Given the description of an element on the screen output the (x, y) to click on. 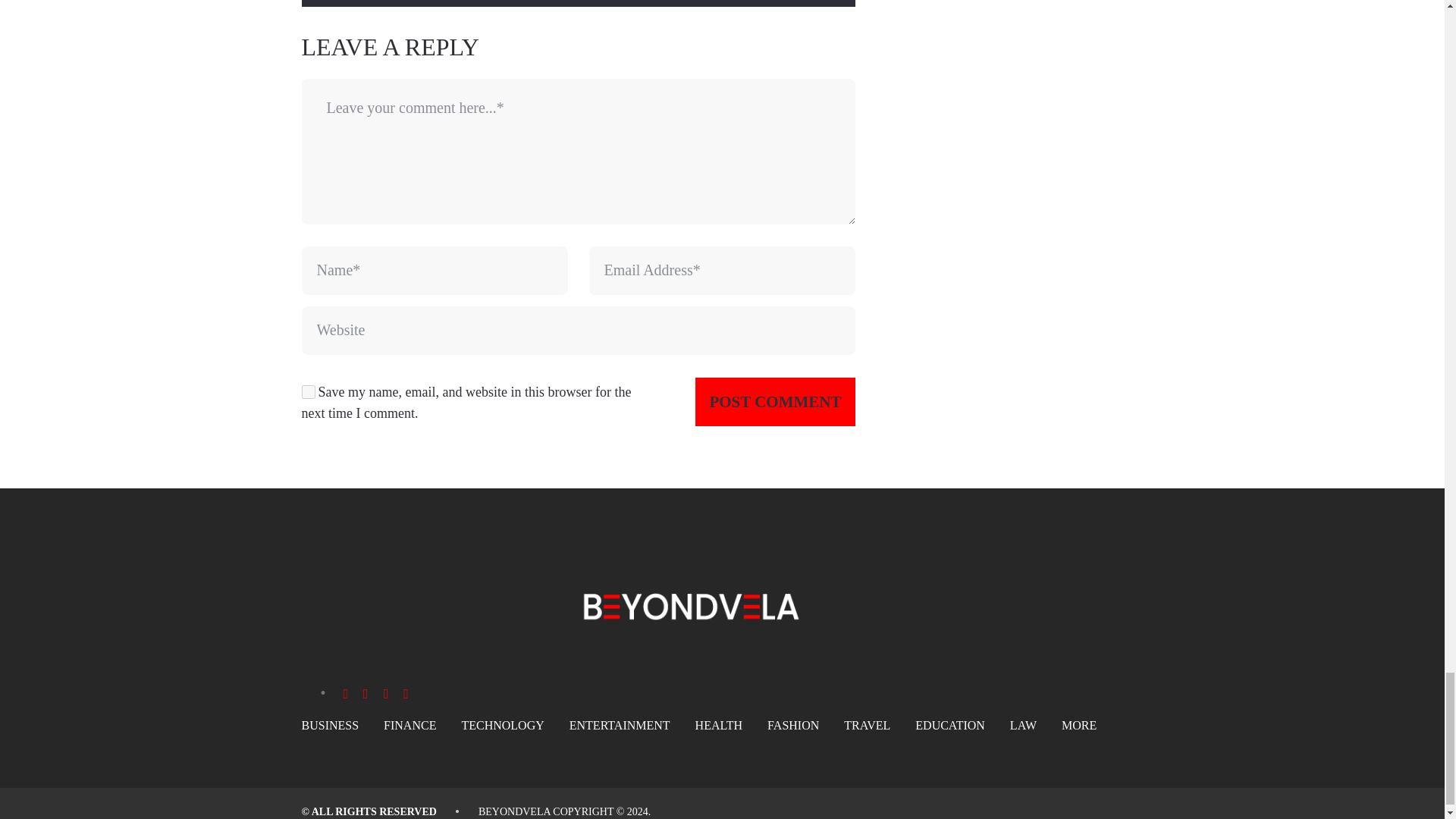
Post Comment (774, 401)
 Top Magazine 2020 (514, 811)
yes (308, 391)
